Given the description of an element on the screen output the (x, y) to click on. 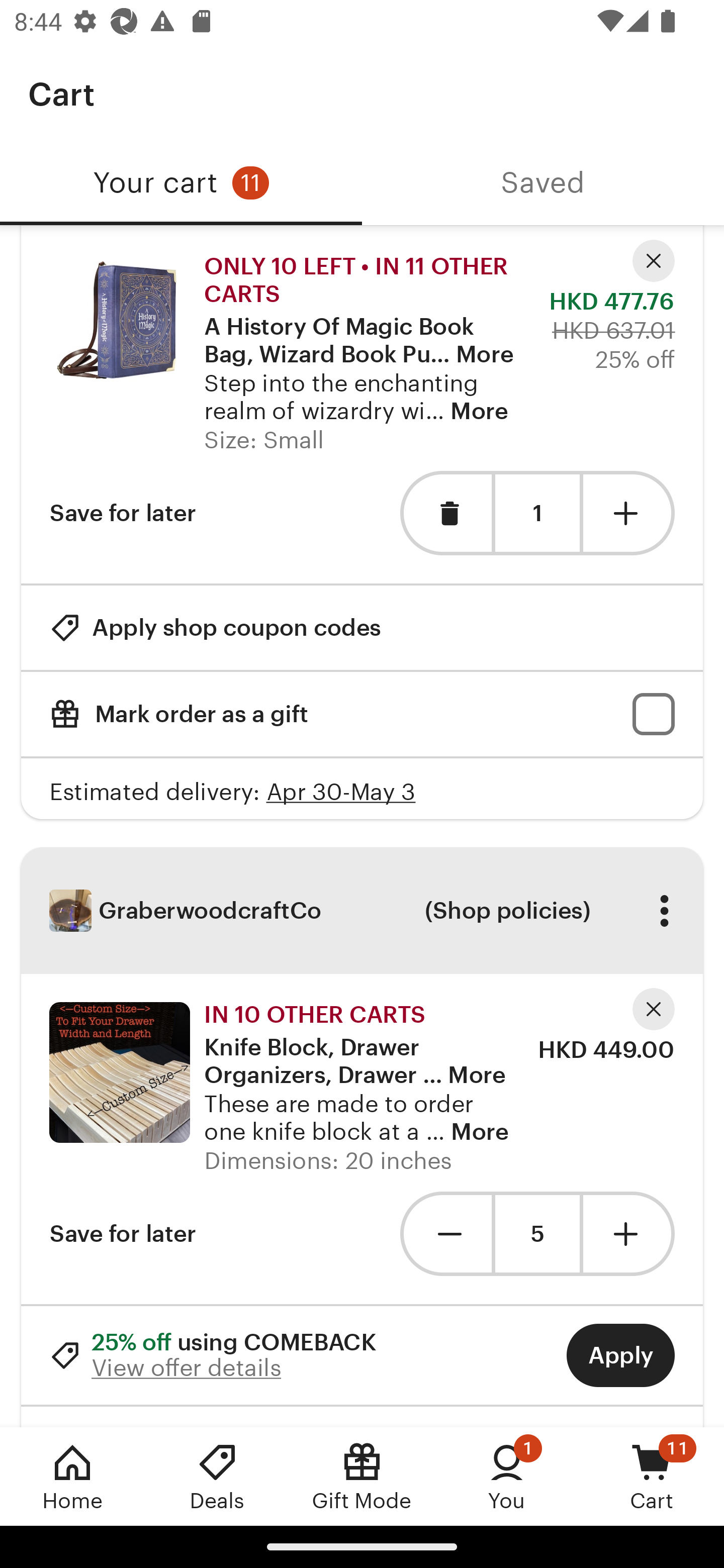
Saved, tab 2 of 2 Saved (543, 183)
Save for later (122, 512)
Remove item from cart (445, 512)
Add one unit to cart (628, 512)
1 (537, 513)
Apply shop coupon codes (215, 626)
Mark order as a gift (361, 713)
GraberwoodcraftCo (Shop policies) More options (361, 909)
(Shop policies) (507, 910)
More options (663, 910)
Save for later (122, 1233)
Remove one unit from cart (445, 1233)
Add one unit to cart (628, 1233)
5 (537, 1233)
25% off using COMEBACK View offer details Apply (361, 1355)
Apply (620, 1355)
Home (72, 1475)
Deals (216, 1475)
Gift Mode (361, 1475)
You, 1 new notification You (506, 1475)
